Given the description of an element on the screen output the (x, y) to click on. 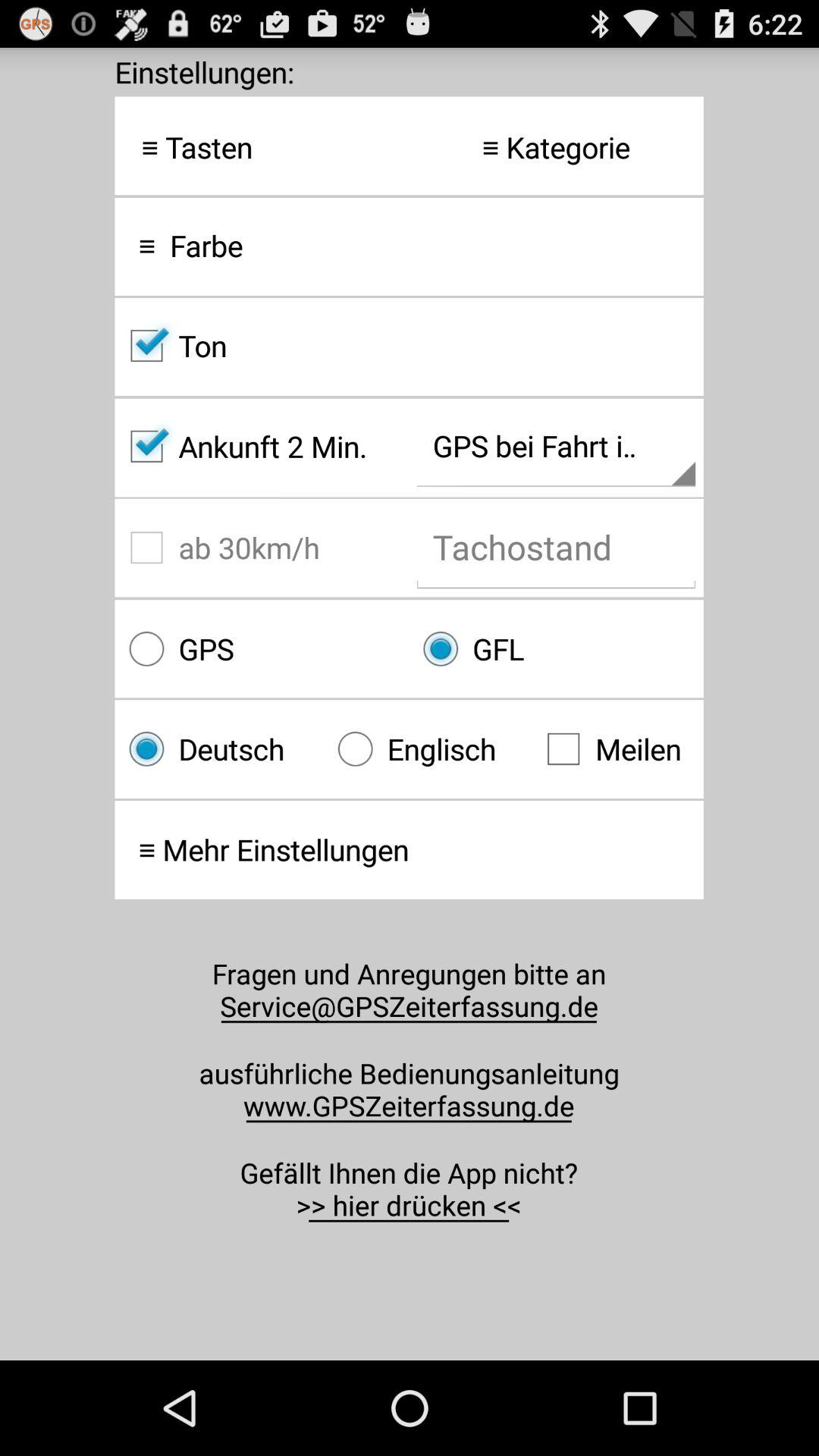
flip to meilen icon (617, 748)
